Given the description of an element on the screen output the (x, y) to click on. 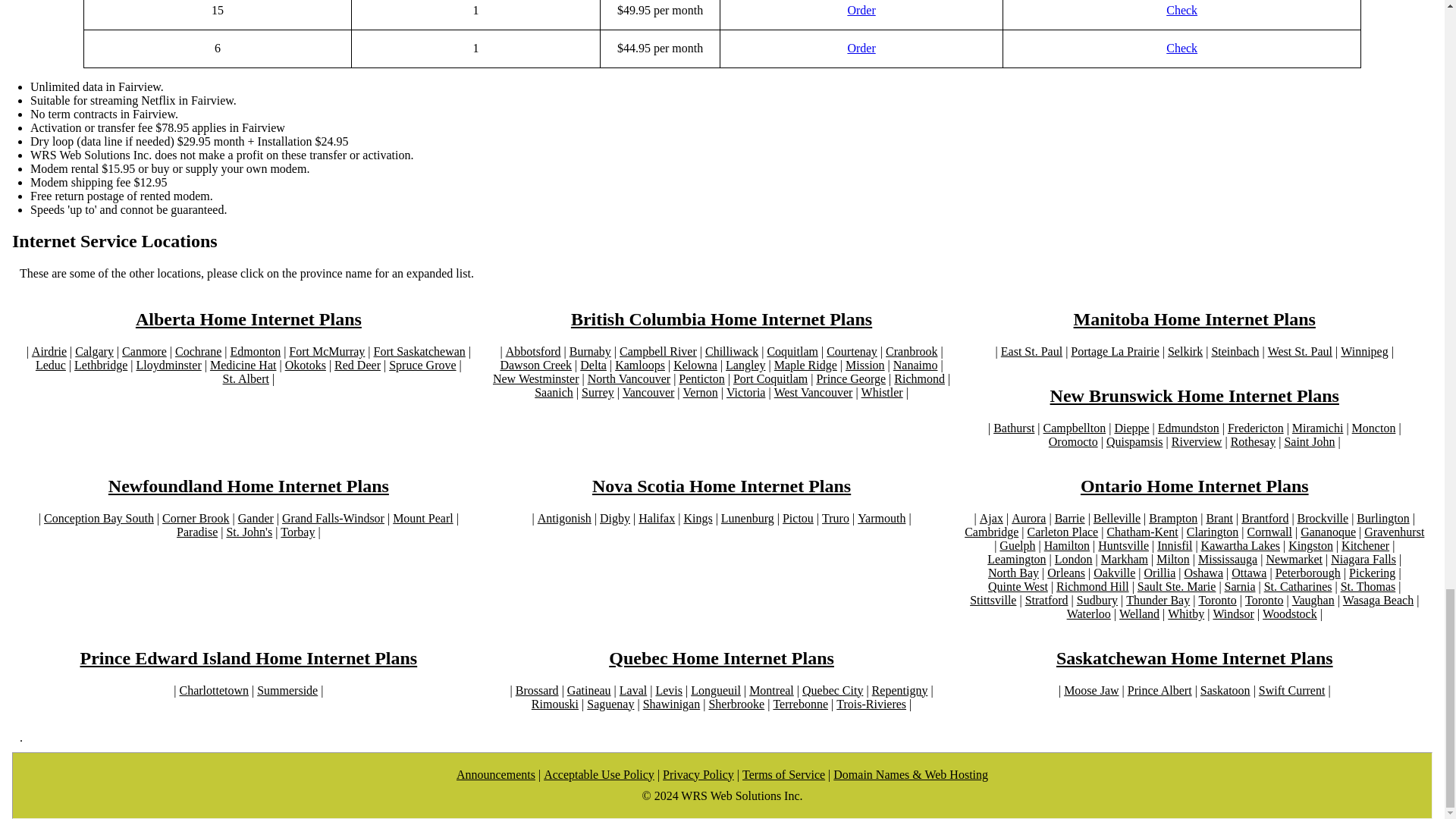
Edmonton (255, 351)
Lethbridge (101, 365)
Order (861, 48)
Okotoks (305, 365)
Calgary (94, 351)
Spruce Grove (421, 365)
Check (1181, 10)
Canmore (144, 351)
Order (861, 10)
Check (1181, 48)
